Given the description of an element on the screen output the (x, y) to click on. 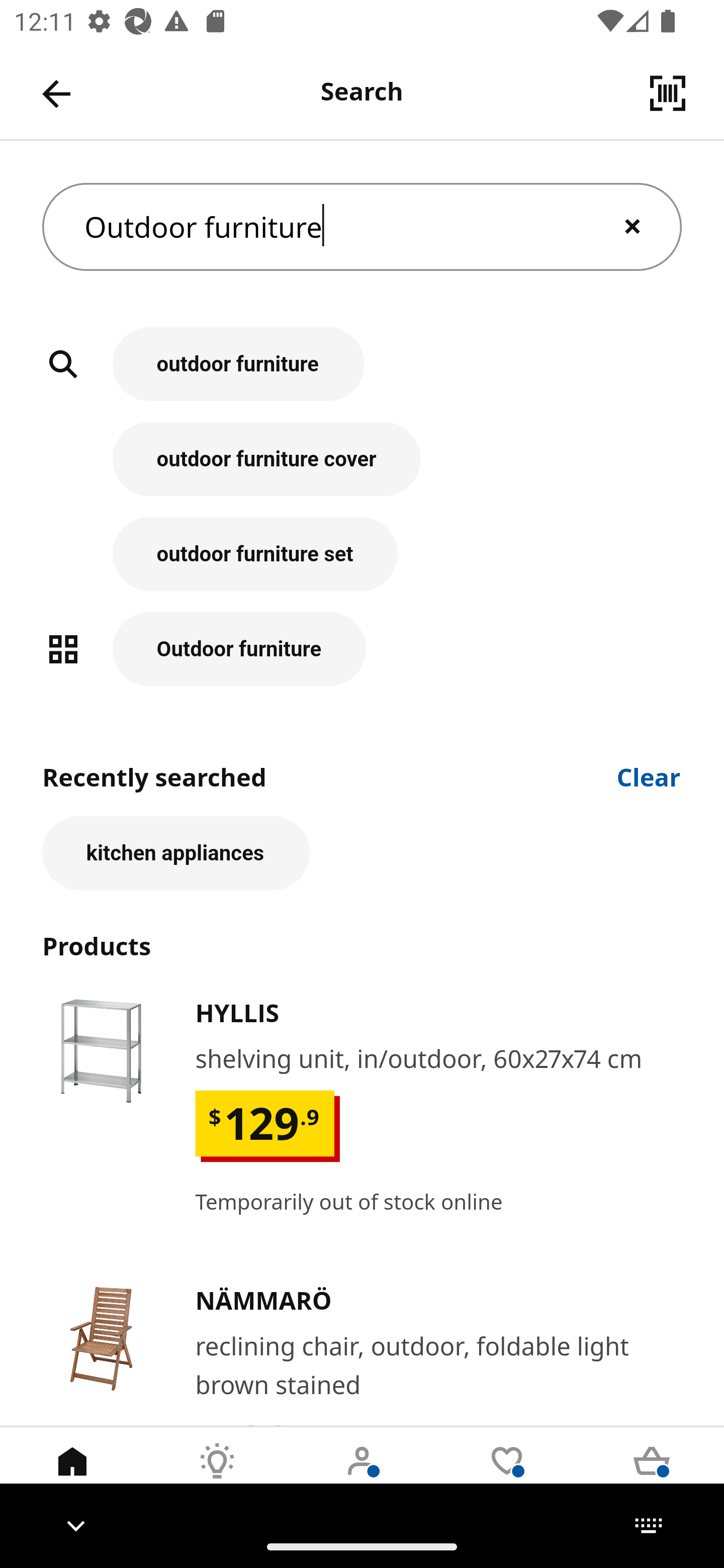
Outdoor furniture (361, 227)
outdoor furniture (361, 374)
outdoor furniture cover (361, 469)
outdoor furniture set (361, 564)
Outdoor furniture (361, 648)
Clear (649, 774)
kitchen appliances (175, 853)
Home
Tab 1 of 5 (72, 1476)
Inspirations
Tab 2 of 5 (216, 1476)
User
Tab 3 of 5 (361, 1476)
Wishlist
Tab 4 of 5 (506, 1476)
Cart
Tab 5 of 5 (651, 1476)
